Given the description of an element on the screen output the (x, y) to click on. 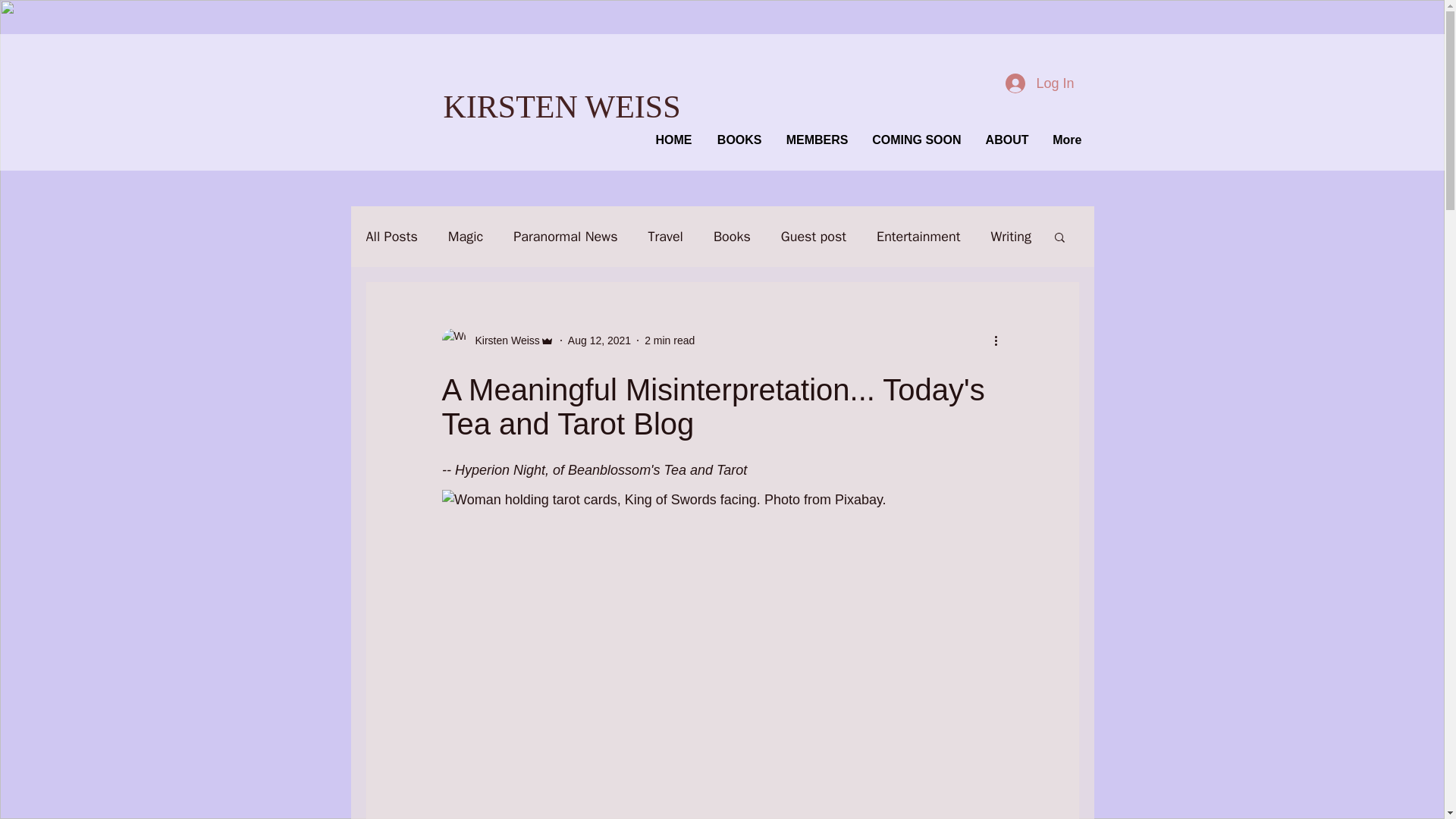
ABOUT (1002, 139)
HOME (669, 139)
Guest post (812, 236)
Kirsten Weiss (501, 340)
COMING SOON (913, 139)
MEMBERS (813, 139)
All Posts (390, 236)
Entertainment (917, 236)
Paranormal News (565, 236)
Writing (1010, 236)
Books (732, 236)
Log In (1039, 82)
Travel (664, 236)
Magic (465, 236)
2 min read (669, 340)
